Given the description of an element on the screen output the (x, y) to click on. 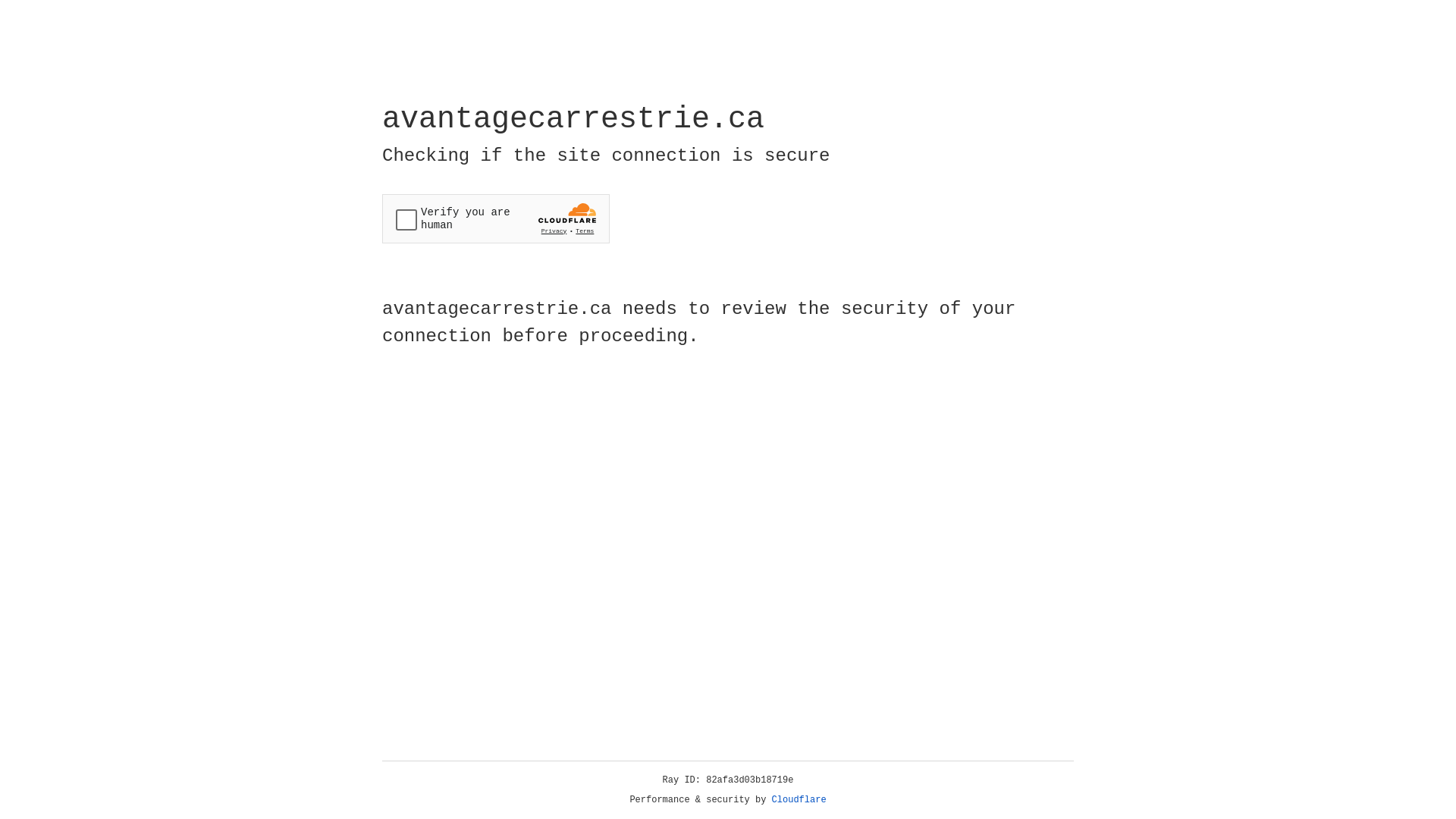
Widget containing a Cloudflare security challenge Element type: hover (495, 218)
Cloudflare Element type: text (798, 799)
